Given the description of an element on the screen output the (x, y) to click on. 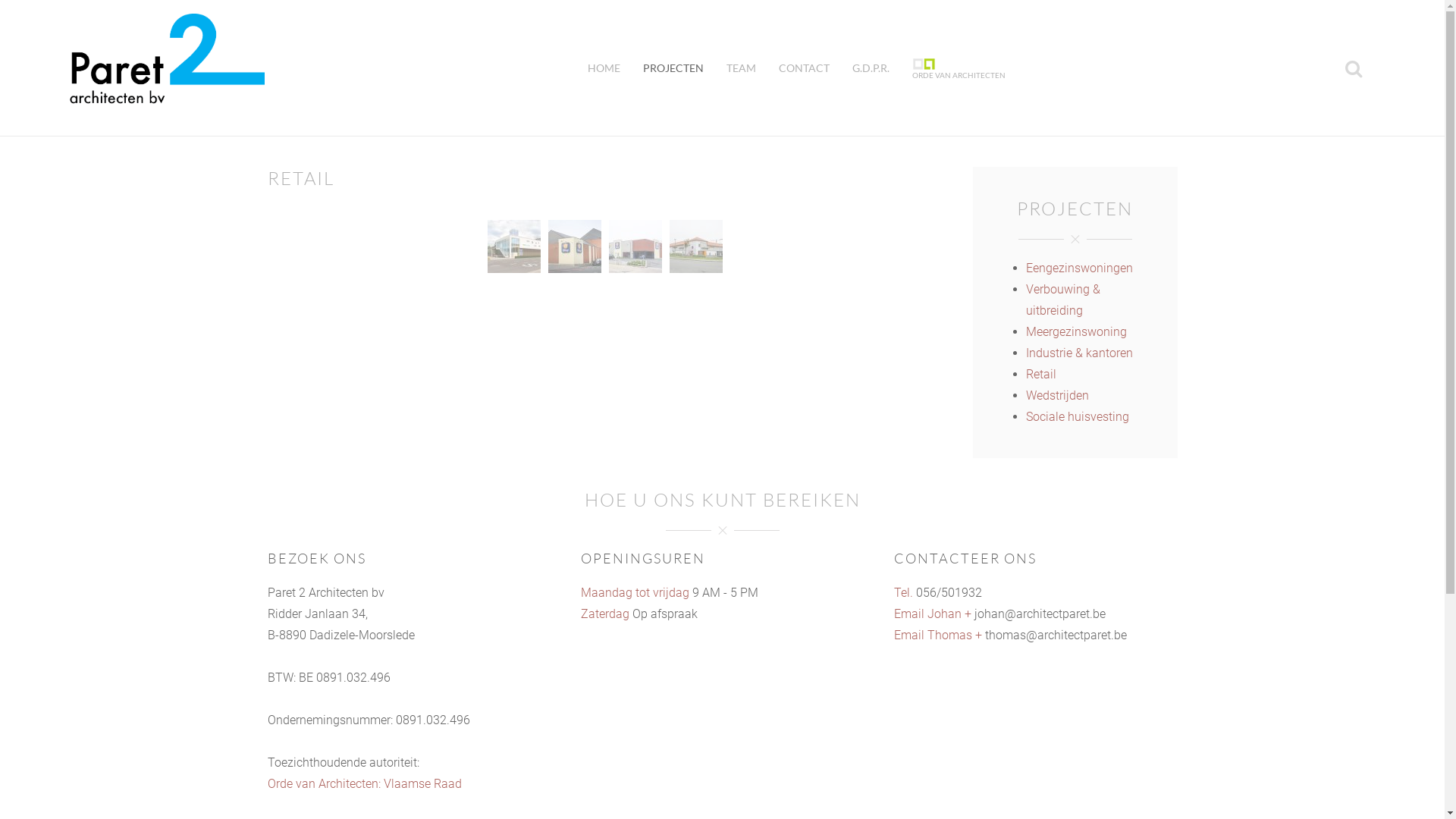
TEAM Element type: text (740, 68)
Verbouwing & uitbreiding Element type: text (1062, 299)
G.D.P.R. Element type: text (870, 68)
Sociale huisvesting Element type: text (1076, 416)
thomas@architectparet.be Element type: text (1055, 634)
HOME Element type: text (603, 68)
Wedstrijden Element type: text (1056, 395)
Industrie & kantoren Element type: text (1078, 352)
PROJECTEN Element type: text (672, 68)
ORDE VAN ARCHITECTEN Element type: text (958, 68)
johan@architectparet.be Element type: text (1039, 613)
Retail Element type: text (1040, 374)
Eengezinswoningen Element type: text (1078, 267)
CONTACT Element type: text (803, 68)
Orde van Architecten: Vlaamse Raad Element type: text (363, 783)
Meergezinswoning Element type: text (1075, 331)
